Given the description of an element on the screen output the (x, y) to click on. 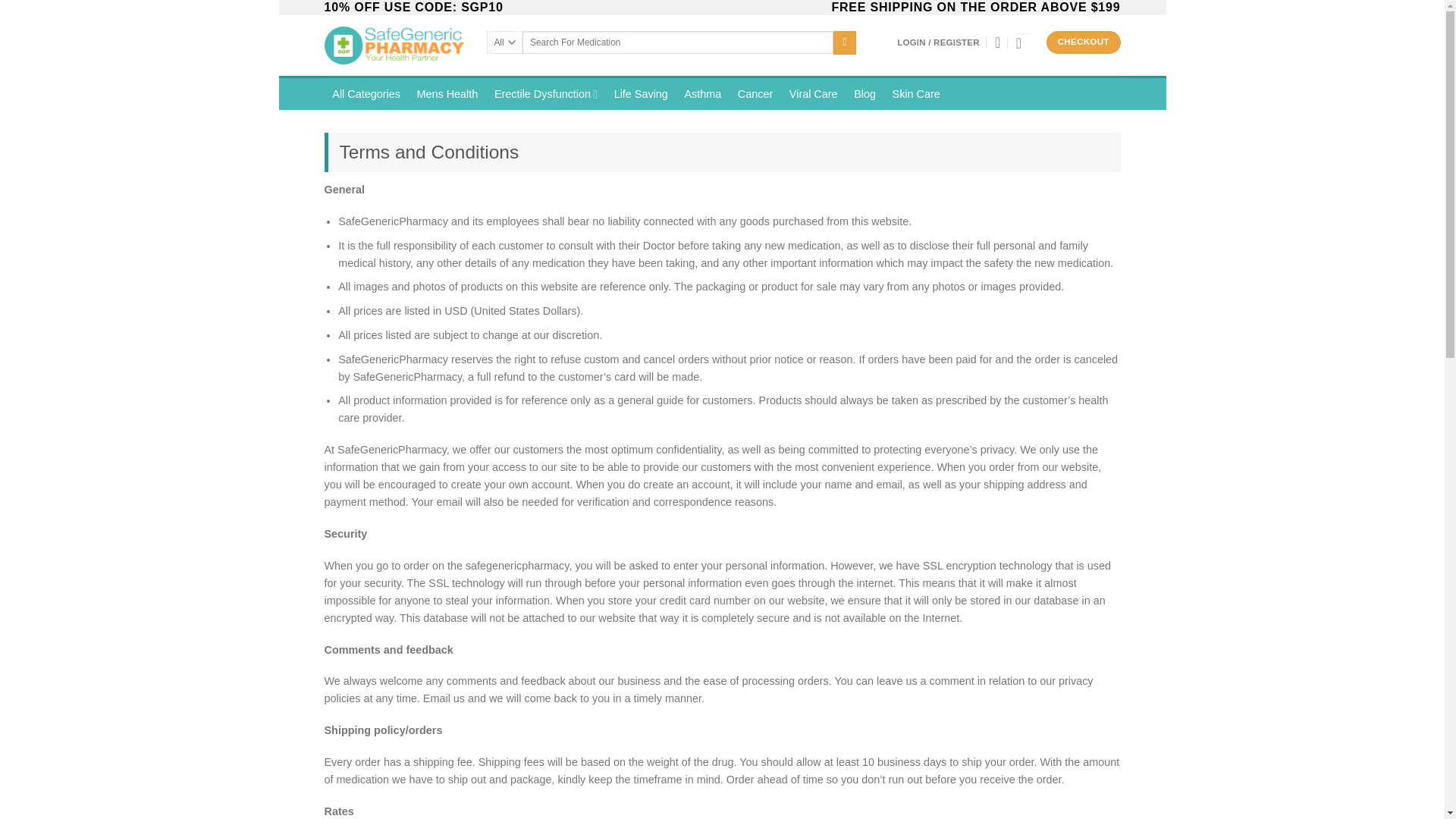
Life Saving (641, 93)
Erectile Dysfunction (545, 93)
Asthma (703, 93)
Blog (864, 93)
Mens Health (447, 93)
Cancer (754, 93)
Viral Care (812, 93)
All Categories (366, 93)
